Given the description of an element on the screen output the (x, y) to click on. 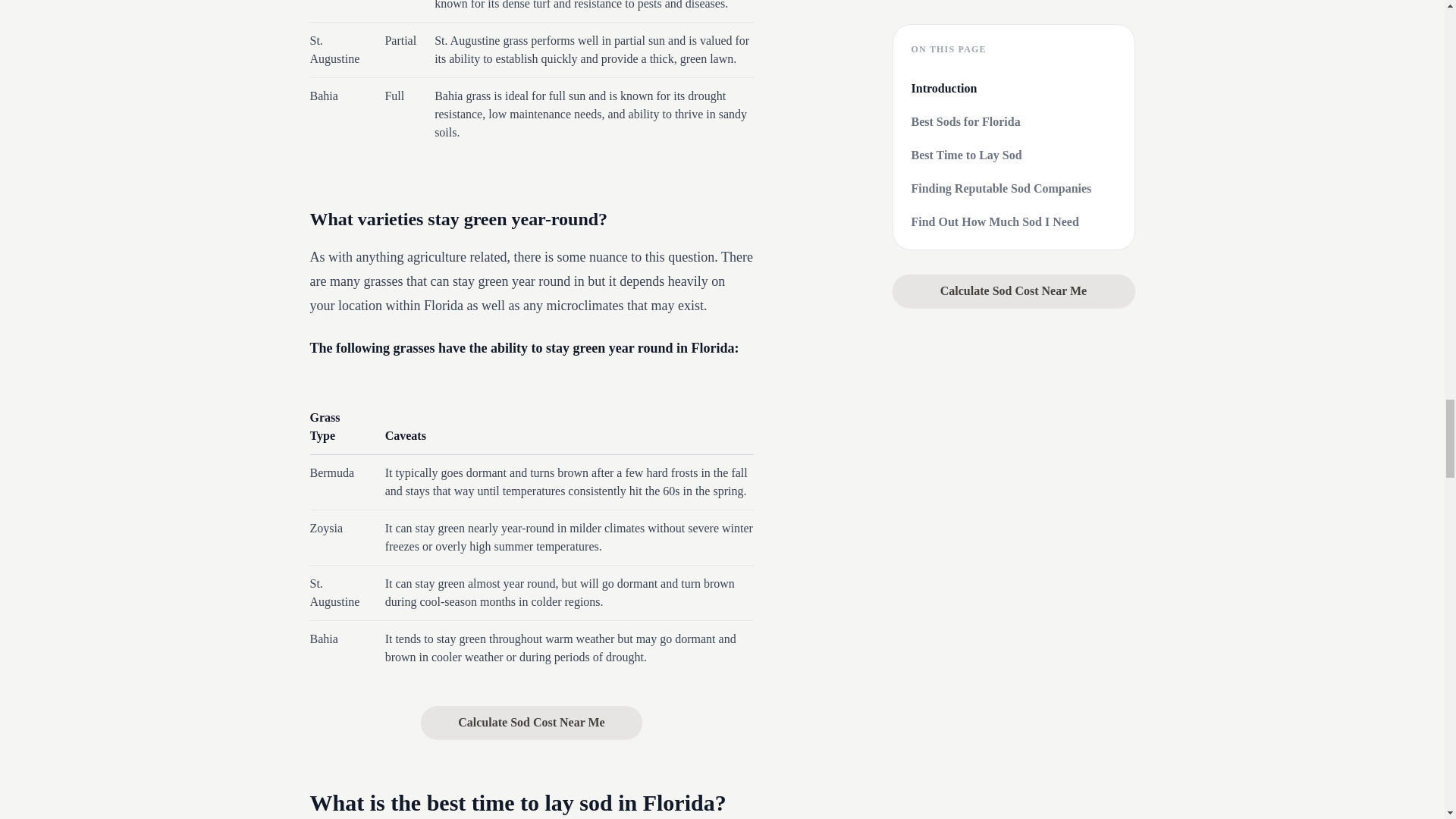
Calculate Sod Cost Near Me (531, 722)
